Given the description of an element on the screen output the (x, y) to click on. 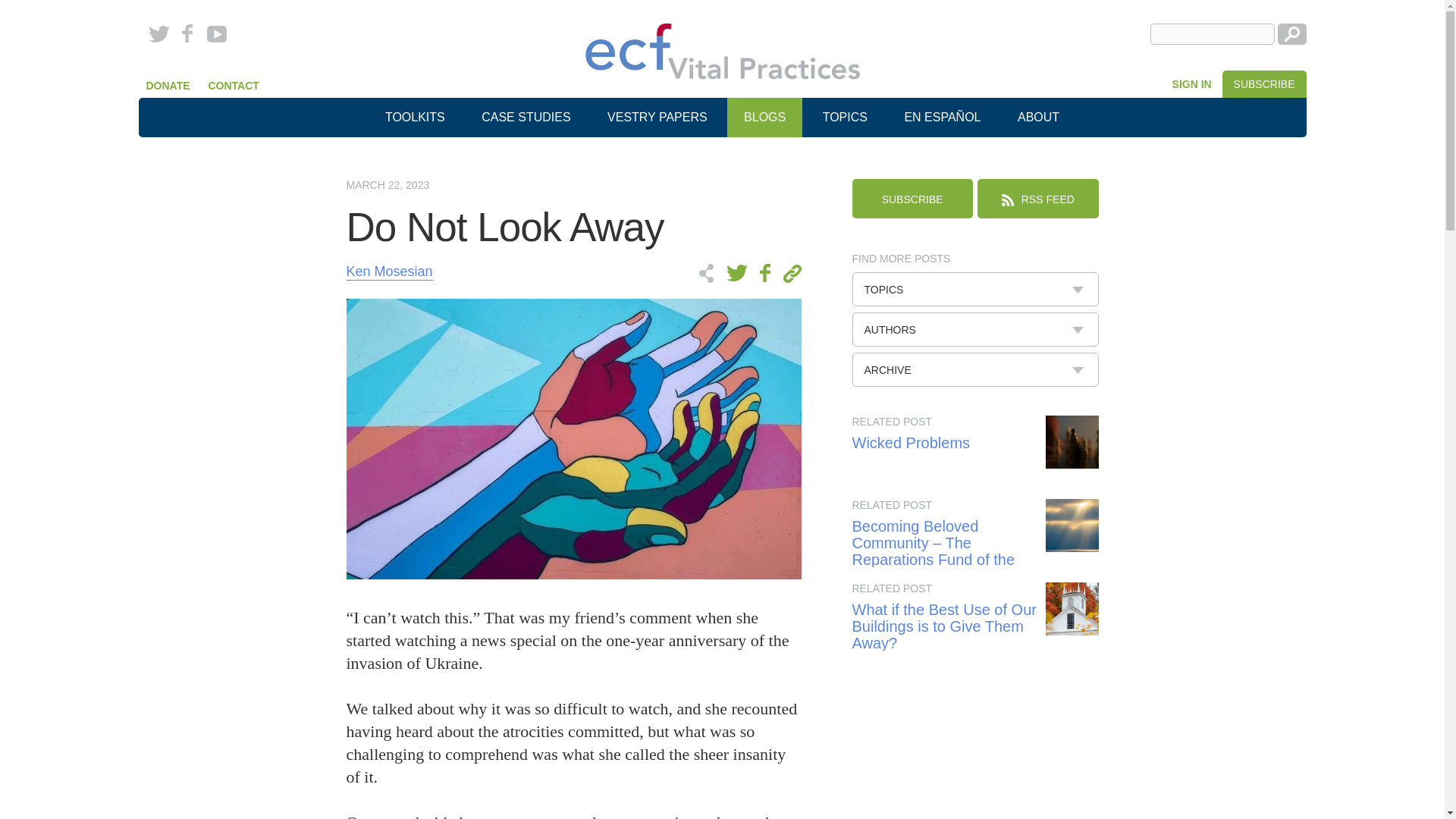
TOOLKITS (414, 117)
Search (1291, 34)
VESTRY PAPERS (657, 117)
Email a Link (789, 272)
Visit us on Twitter (162, 34)
Share on Twitter (738, 272)
ABOUT (1038, 117)
BLOGS (764, 117)
SUBSCRIBE (911, 198)
AUTHORS (975, 329)
